Given the description of an element on the screen output the (x, y) to click on. 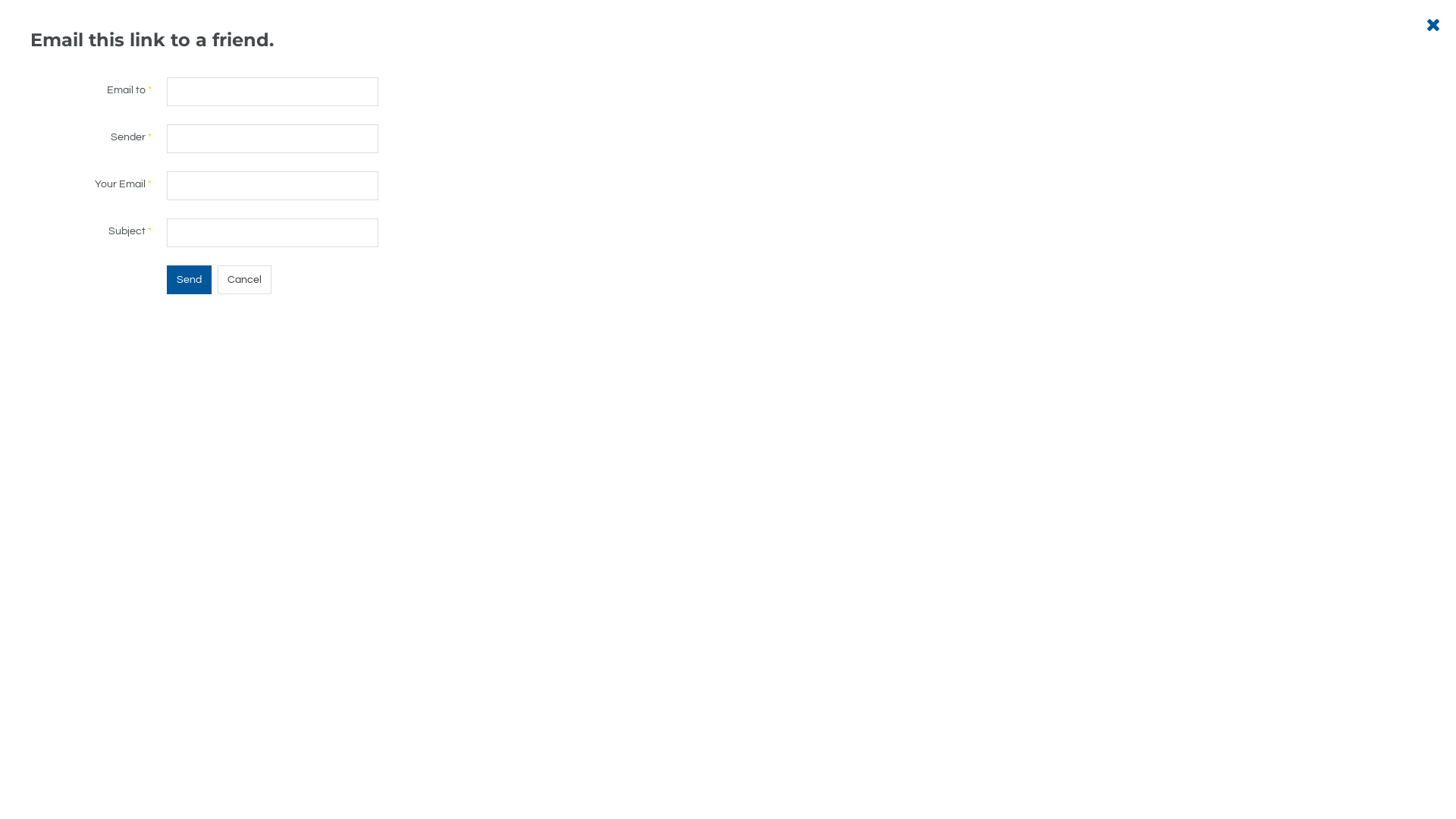
Cancel Element type: text (244, 279)
Close Window Element type: hover (1433, 24)
Send Element type: text (188, 279)
